Given the description of an element on the screen output the (x, y) to click on. 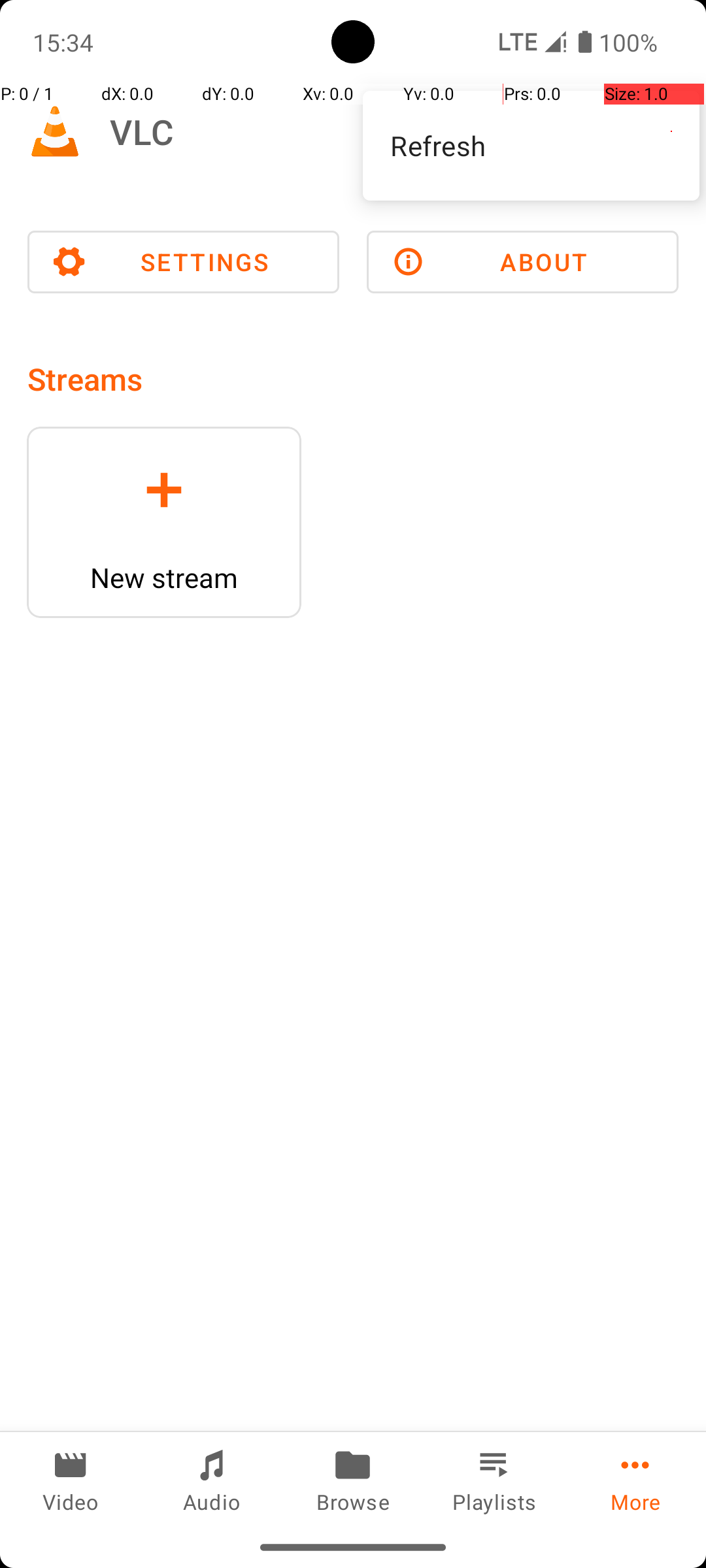
Refresh Element type: android.widget.TextView (531, 144)
